Given the description of an element on the screen output the (x, y) to click on. 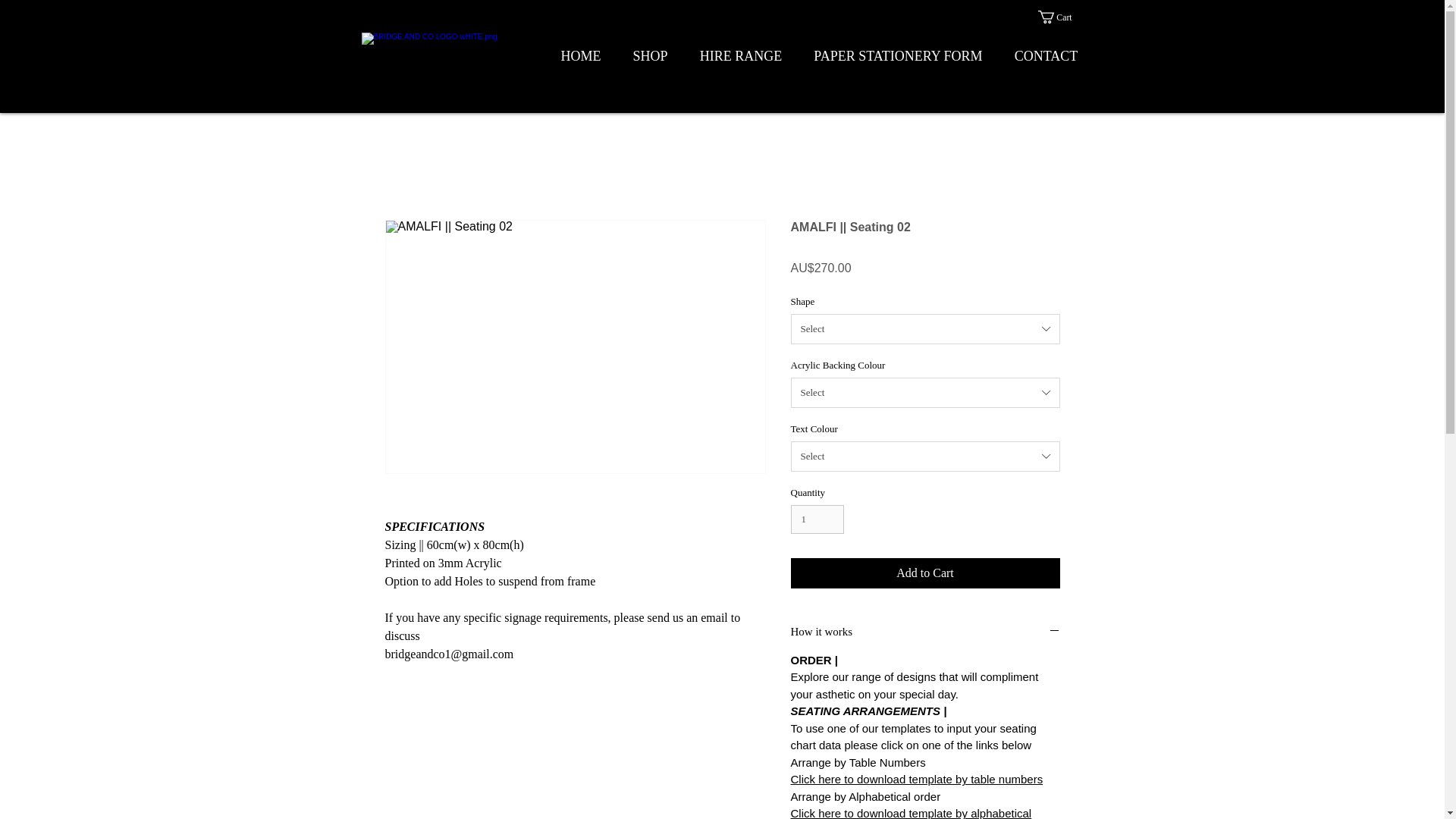
Cart (1061, 16)
Select (924, 456)
SHOP (650, 55)
Select (924, 328)
How it works (924, 631)
Click here to download template by alphabetical order (910, 812)
PAPER STATIONERY FORM (897, 55)
Add to Cart (924, 572)
HOME (579, 55)
Cart (1061, 16)
Select (924, 392)
Click here to download template by table numbers (916, 779)
HIRE RANGE (740, 55)
1 (817, 519)
CONTACT (1045, 55)
